Given the description of an element on the screen output the (x, y) to click on. 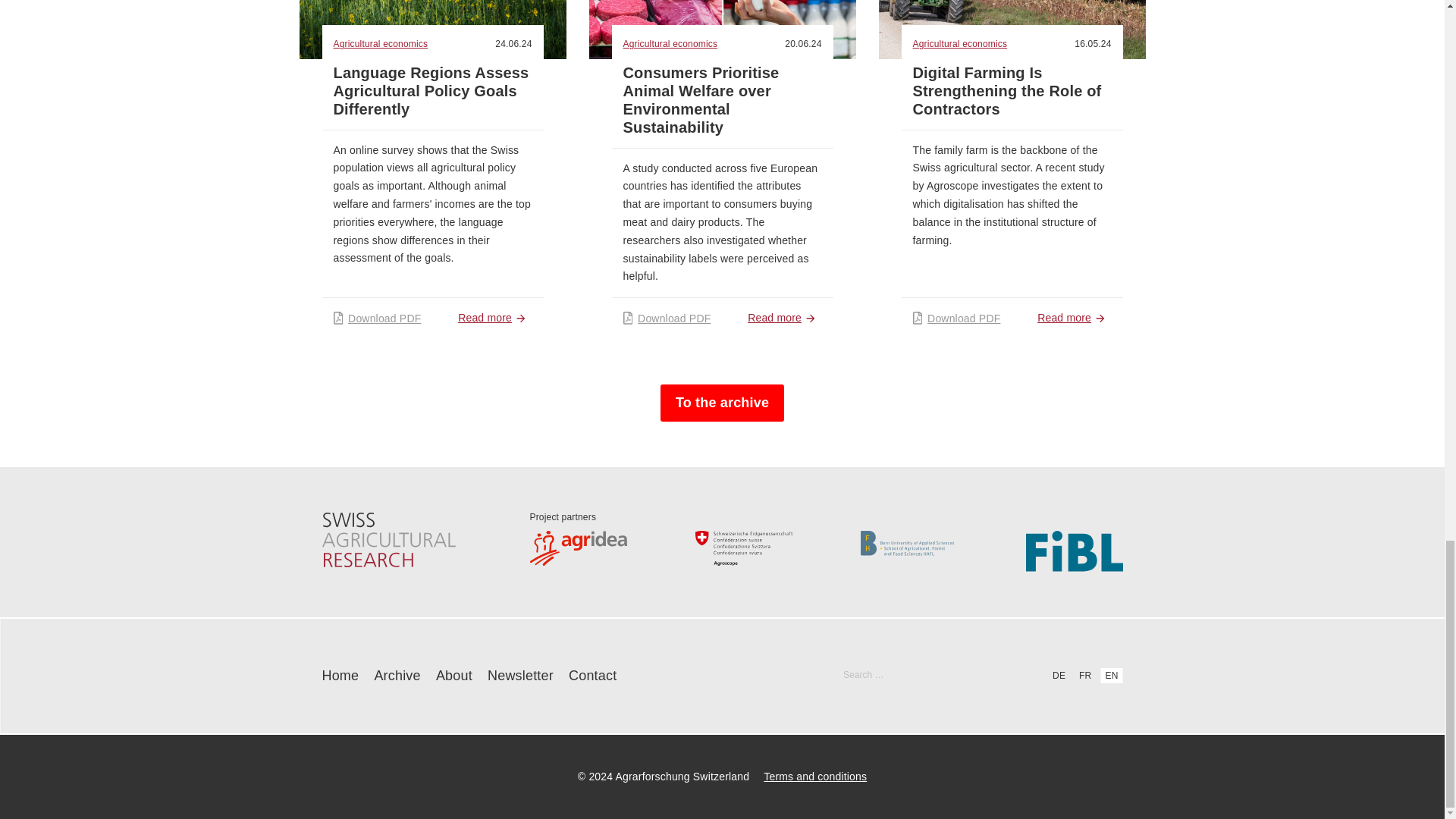
Agricultural economics (961, 43)
Download PDF (667, 318)
16.05.24 (1092, 43)
Download PDF (377, 318)
Agricultural economics (672, 43)
Read articles from the Agricultural economics category (382, 43)
20.06.24 (802, 43)
Digital Farming Is Strengthening the Role of Contractors (1007, 90)
Agricultural economics (382, 43)
24.06.24 (513, 43)
Read articles from 2024 (513, 43)
Read more (494, 318)
Read more (784, 318)
